Given the description of an element on the screen output the (x, y) to click on. 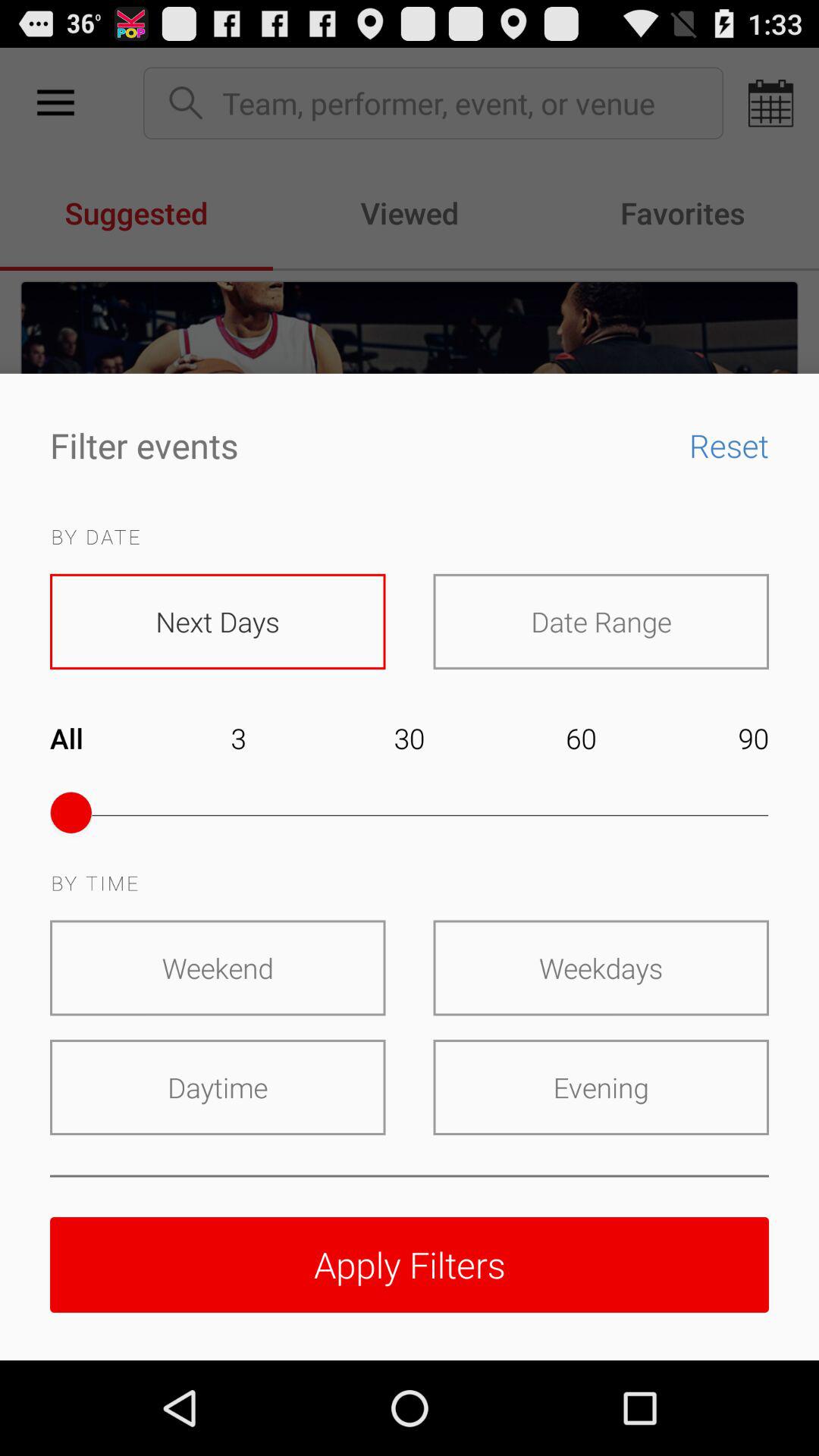
jump until weekend item (217, 967)
